Given the description of an element on the screen output the (x, y) to click on. 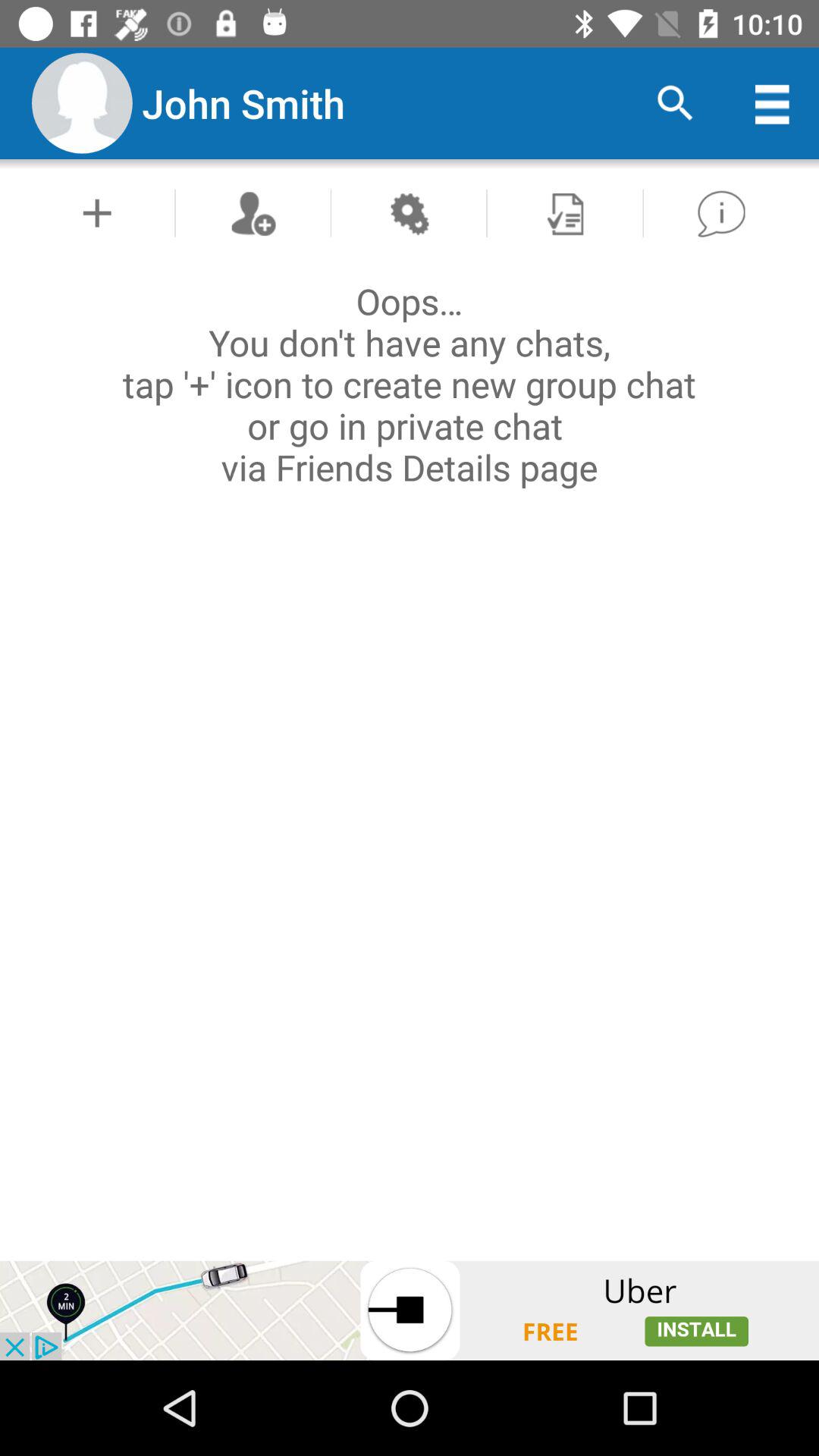
open advertisement (409, 1310)
